Given the description of an element on the screen output the (x, y) to click on. 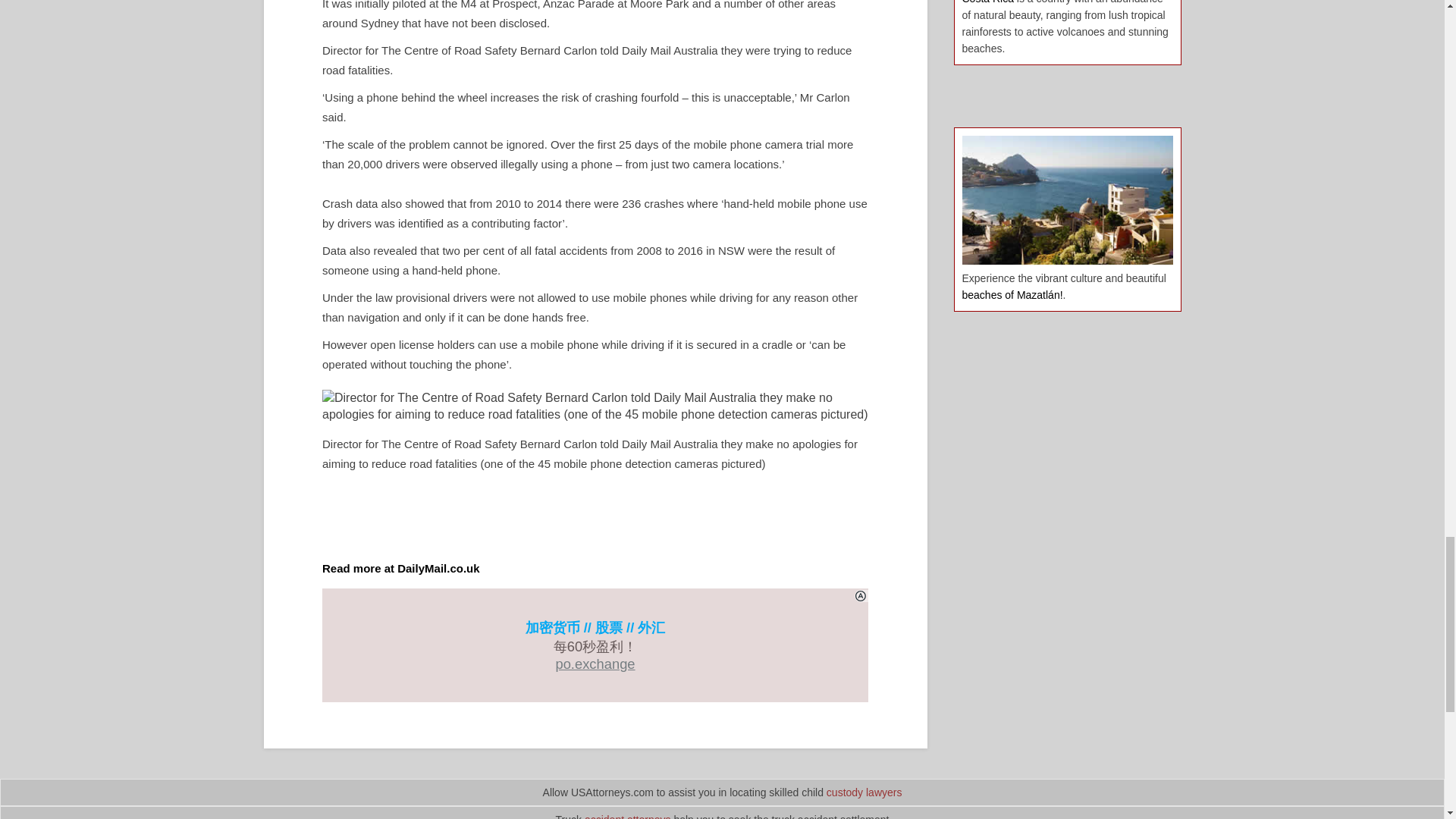
accident attorneys (628, 816)
Costa Rica (986, 2)
custody lawyers (864, 792)
Read more at DailyMail.co.uk (400, 567)
